Given the description of an element on the screen output the (x, y) to click on. 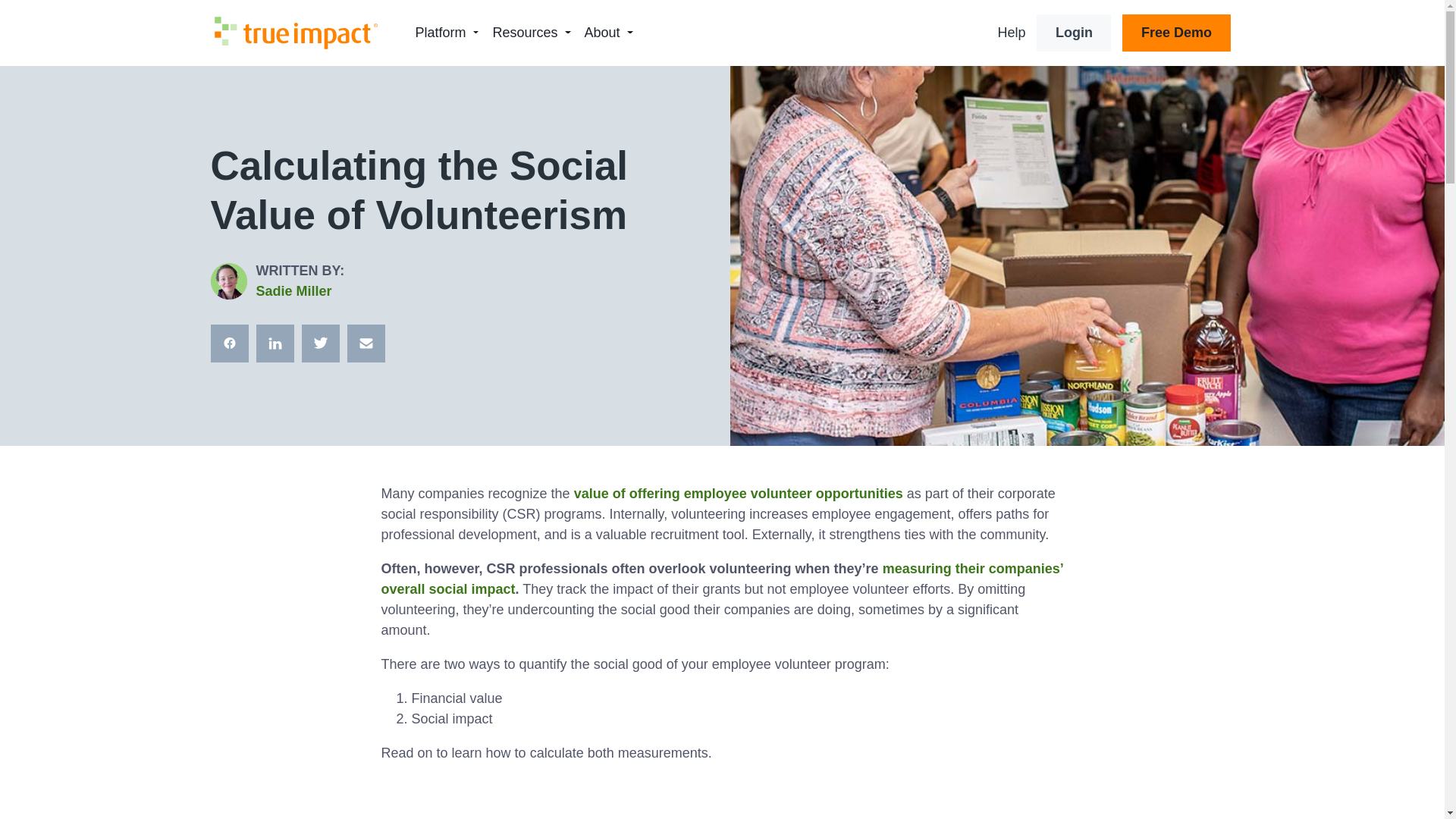
Help (1011, 32)
About (602, 32)
Resources (525, 32)
Login (1073, 32)
Free Demo (1176, 32)
value of offering employee volunteer opportunities (737, 493)
Platform (440, 32)
Share on LinkedIn (275, 343)
Email (366, 343)
Tweet on Twitter (320, 343)
